Given the description of an element on the screen output the (x, y) to click on. 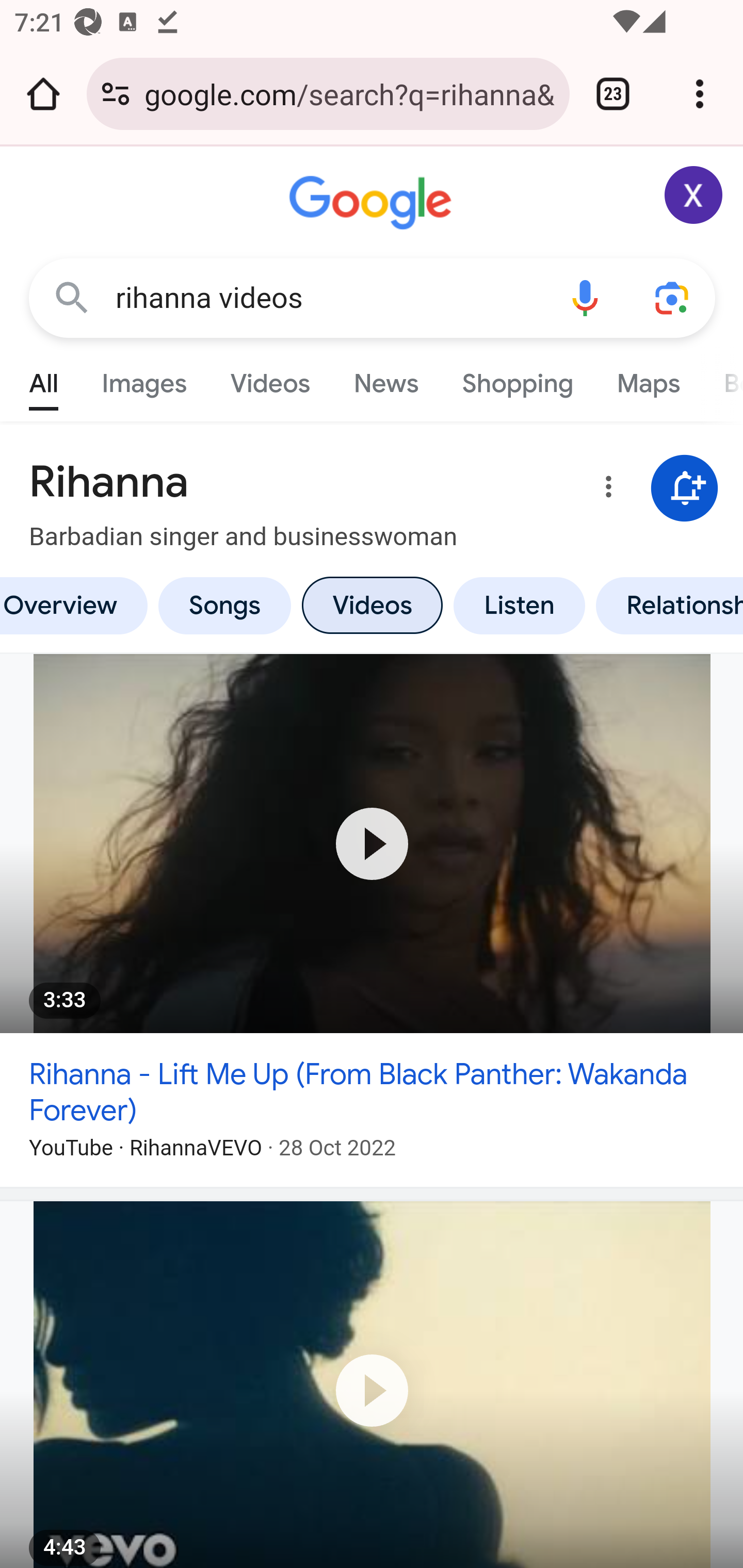
Open the home page (43, 93)
Connection is secure (115, 93)
Switch or close tabs (612, 93)
Customize and control Google Chrome (699, 93)
